Given the description of an element on the screen output the (x, y) to click on. 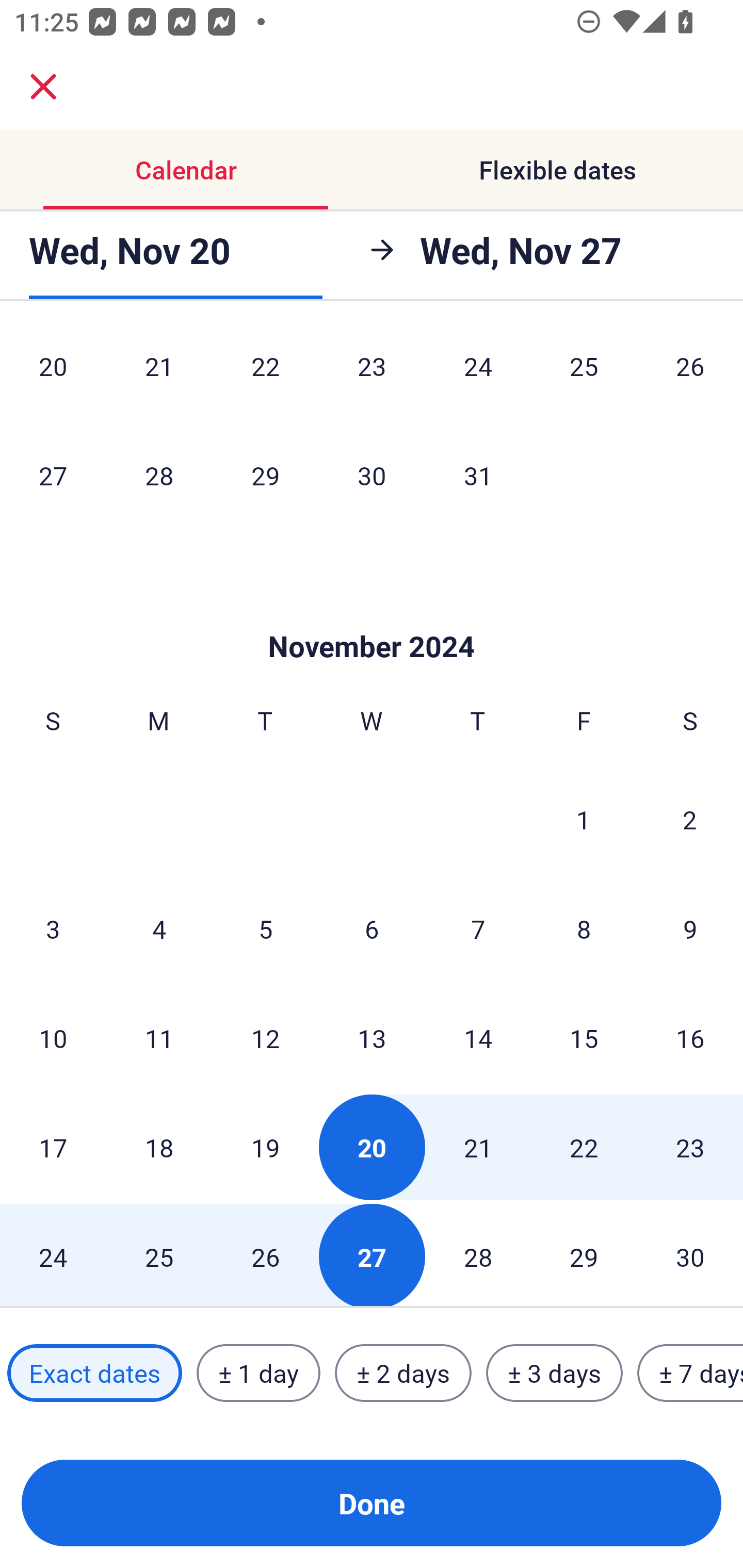
close. (43, 86)
Flexible dates (557, 170)
20 Sunday, October 20, 2024 (53, 374)
21 Monday, October 21, 2024 (159, 374)
22 Tuesday, October 22, 2024 (265, 374)
23 Wednesday, October 23, 2024 (371, 374)
24 Thursday, October 24, 2024 (477, 374)
25 Friday, October 25, 2024 (584, 374)
26 Saturday, October 26, 2024 (690, 374)
27 Sunday, October 27, 2024 (53, 474)
28 Monday, October 28, 2024 (159, 474)
29 Tuesday, October 29, 2024 (265, 474)
30 Wednesday, October 30, 2024 (371, 474)
31 Thursday, October 31, 2024 (477, 474)
Skip to Done (371, 615)
1 Friday, November 1, 2024 (583, 818)
2 Saturday, November 2, 2024 (689, 818)
3 Sunday, November 3, 2024 (53, 928)
4 Monday, November 4, 2024 (159, 928)
5 Tuesday, November 5, 2024 (265, 928)
